Given the description of an element on the screen output the (x, y) to click on. 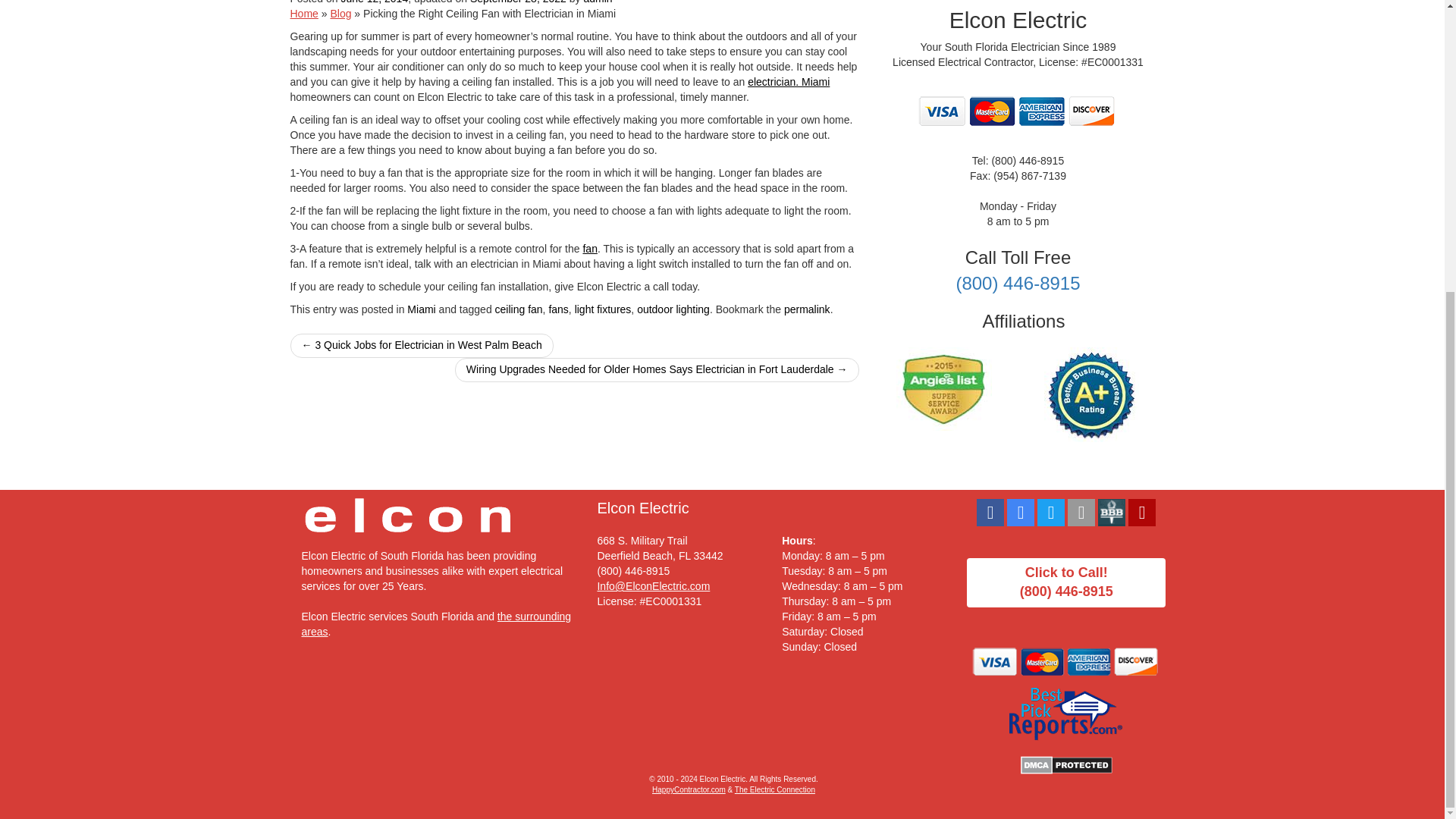
fans (557, 309)
light fixtures (603, 309)
fan (589, 248)
September 28, 2022 (518, 2)
Blog (340, 13)
outdoor lighting (673, 309)
June 12, 2014 (373, 2)
admin (597, 2)
Miami (421, 309)
electrician. Miami (788, 81)
